Given the description of an element on the screen output the (x, y) to click on. 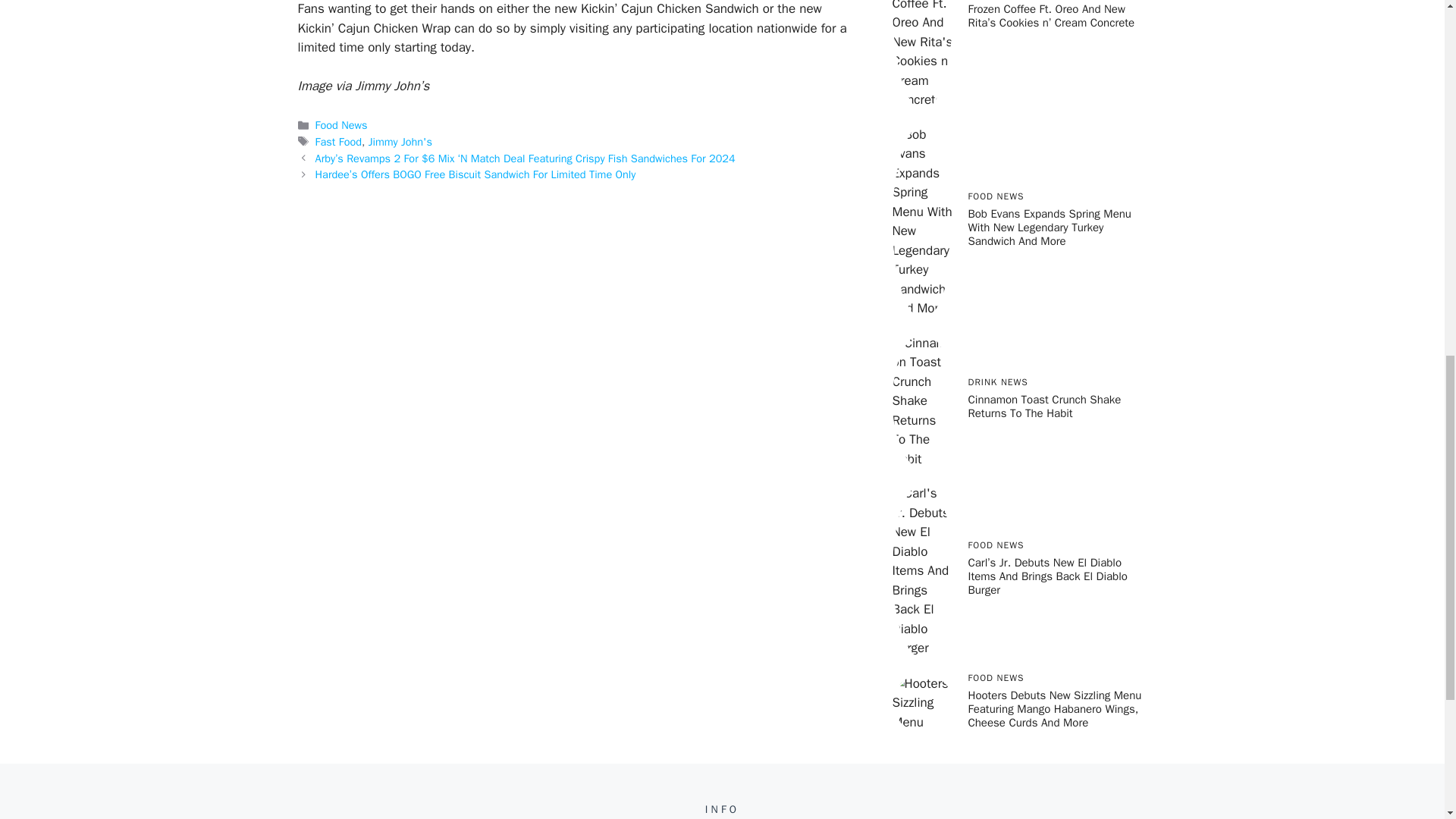
Fast Food (338, 141)
Cinnamon Toast Crunch Shake Returns To The Habit (1044, 406)
Food News (341, 124)
Jimmy John's (400, 141)
